Given the description of an element on the screen output the (x, y) to click on. 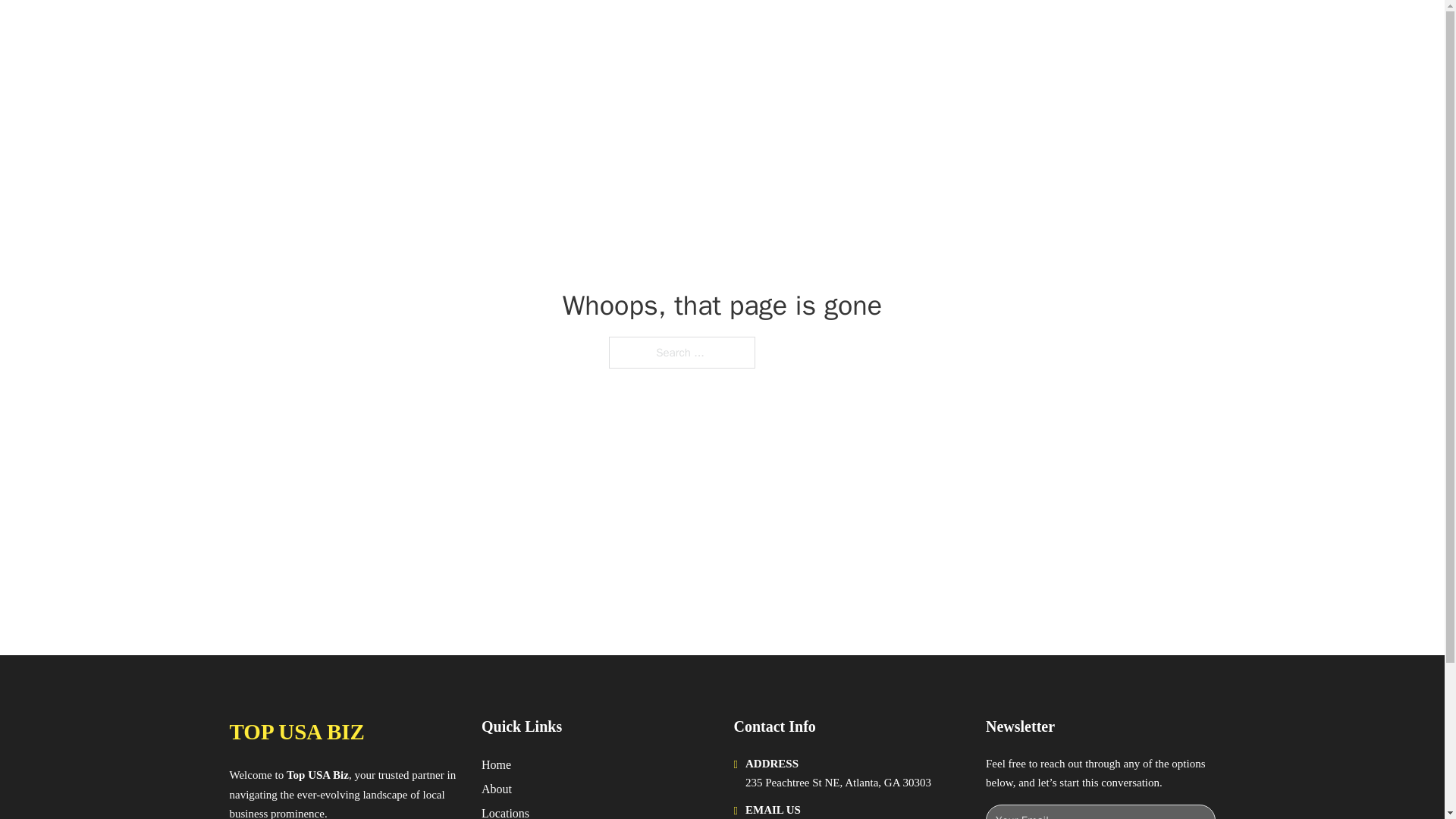
About (496, 788)
HOME (919, 29)
TOP USA BIZ (296, 732)
Home (496, 764)
Locations (505, 811)
TOP USA BIZ (376, 28)
LOCATIONS (990, 29)
